Given the description of an element on the screen output the (x, y) to click on. 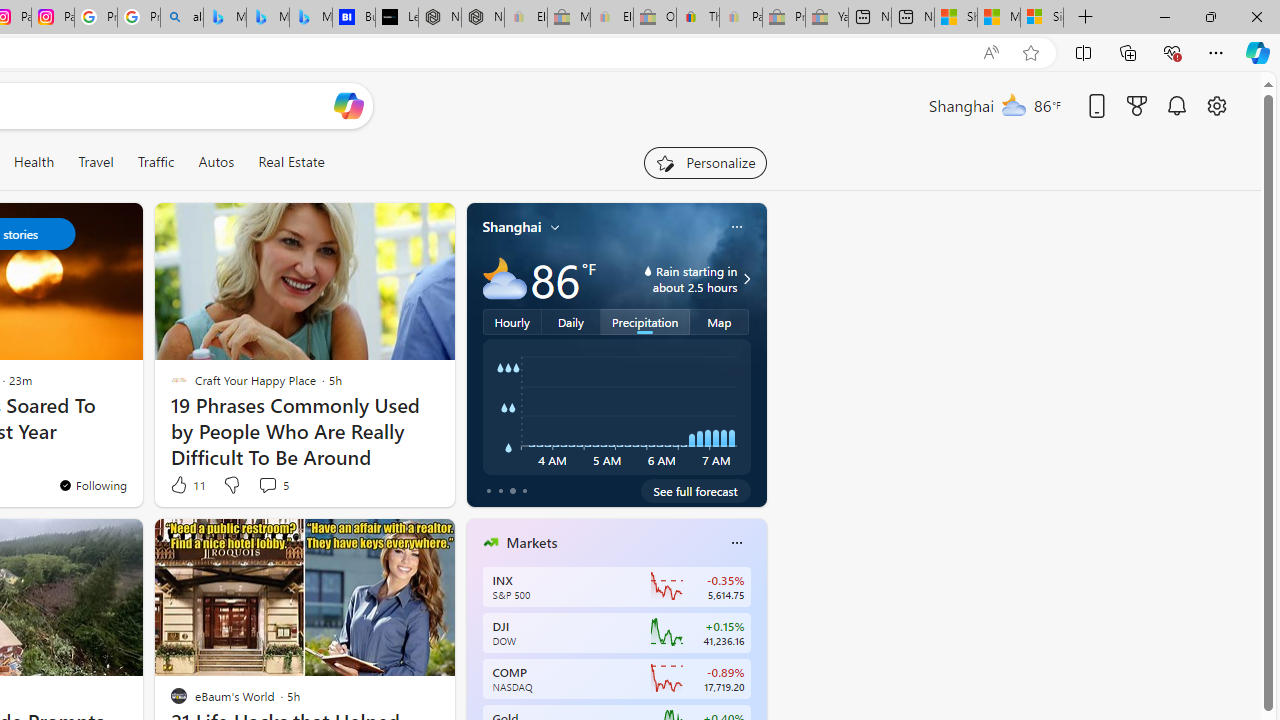
Shanghai, China hourly forecast | Microsoft Weather (955, 17)
11 Like (186, 484)
You're following The Weather Channel (92, 485)
Rain starting in about 2.5 hours (744, 278)
tab-0 (488, 490)
tab-1 (500, 490)
Map (719, 321)
